Given the description of an element on the screen output the (x, y) to click on. 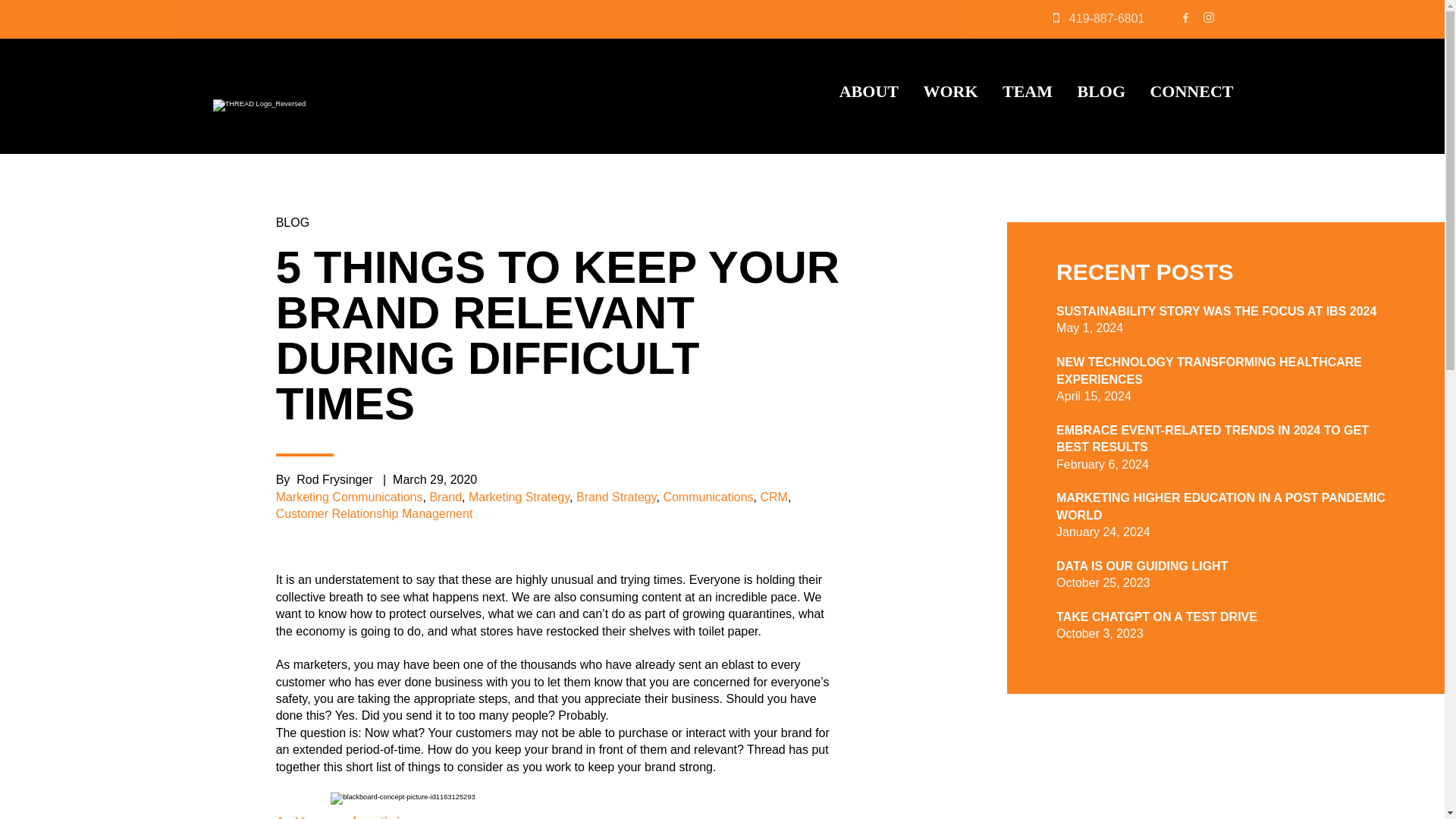
WORK (949, 90)
Marketing Strategy (518, 496)
Customer Relationship Management (374, 513)
EMBRACE EVENT-RELATED TRENDS IN 2024 TO GET BEST RESULTS (1212, 438)
MARKETING HIGHER EDUCATION IN A POST PANDEMIC WORLD (1221, 505)
BLOG (1101, 90)
Communications (707, 496)
Marketing Communications (349, 496)
SUSTAINABILITY STORY WAS THE FOCUS AT IBS 2024 (1216, 310)
419-887-6801 (1106, 18)
